Given the description of an element on the screen output the (x, y) to click on. 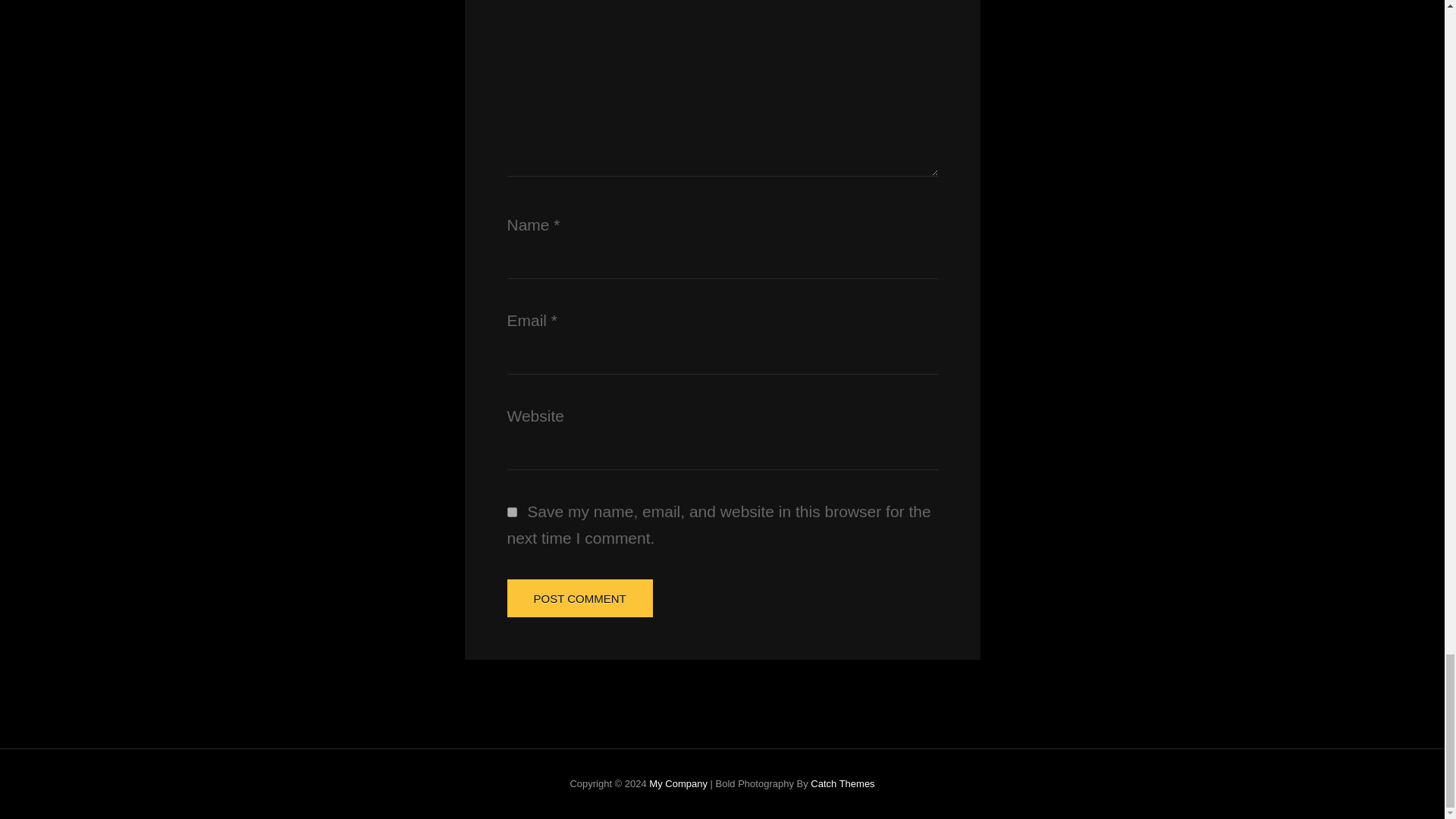
My Company (678, 783)
Post Comment (579, 598)
yes (511, 511)
Catch Themes (842, 783)
Post Comment (579, 598)
